Given the description of an element on the screen output the (x, y) to click on. 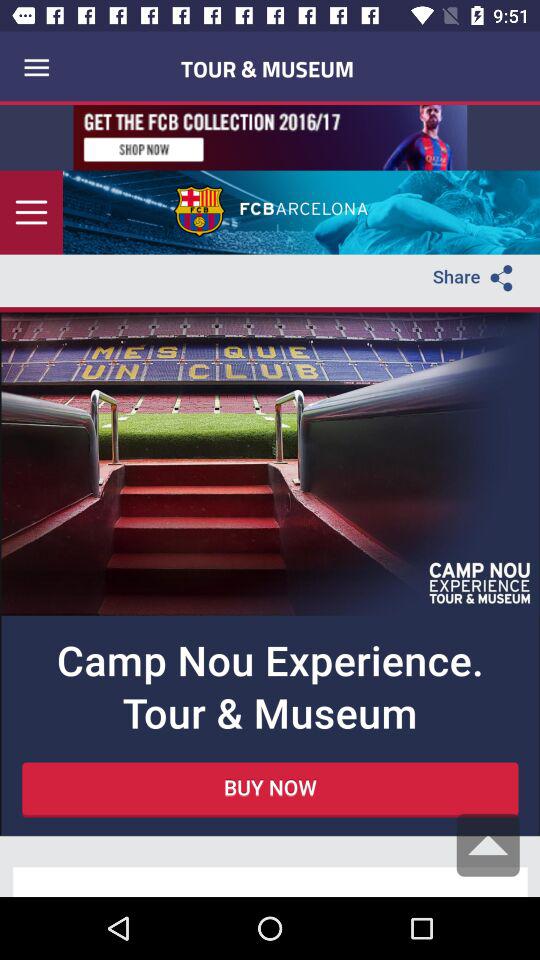
buy now (270, 501)
